Given the description of an element on the screen output the (x, y) to click on. 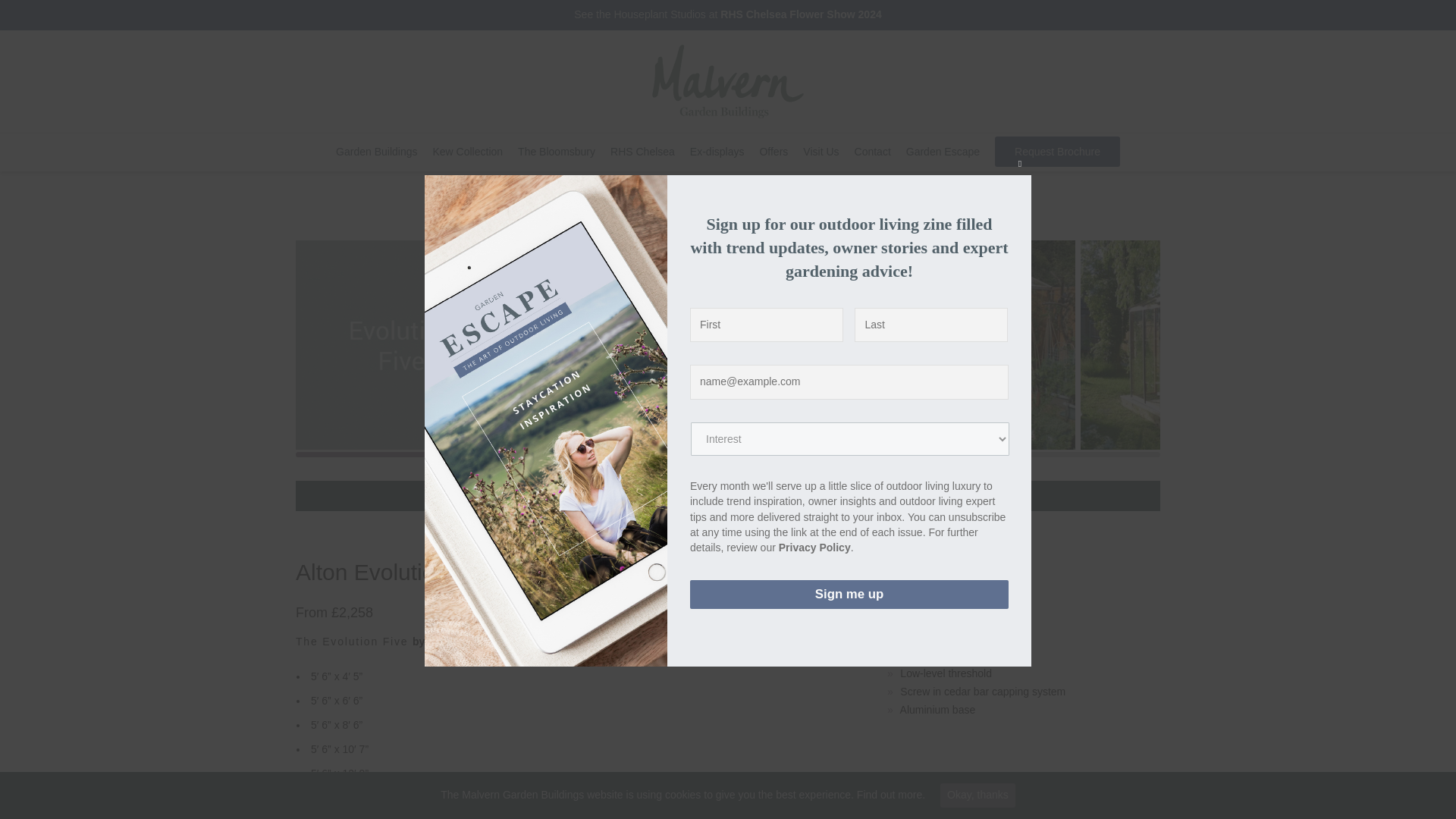
Sign me up (849, 594)
Evolution Five (403, 344)
Garden Buildings (376, 151)
Evolution Five (1187, 344)
Evolution Five (652, 344)
Evolution Five (937, 344)
